Given the description of an element on the screen output the (x, y) to click on. 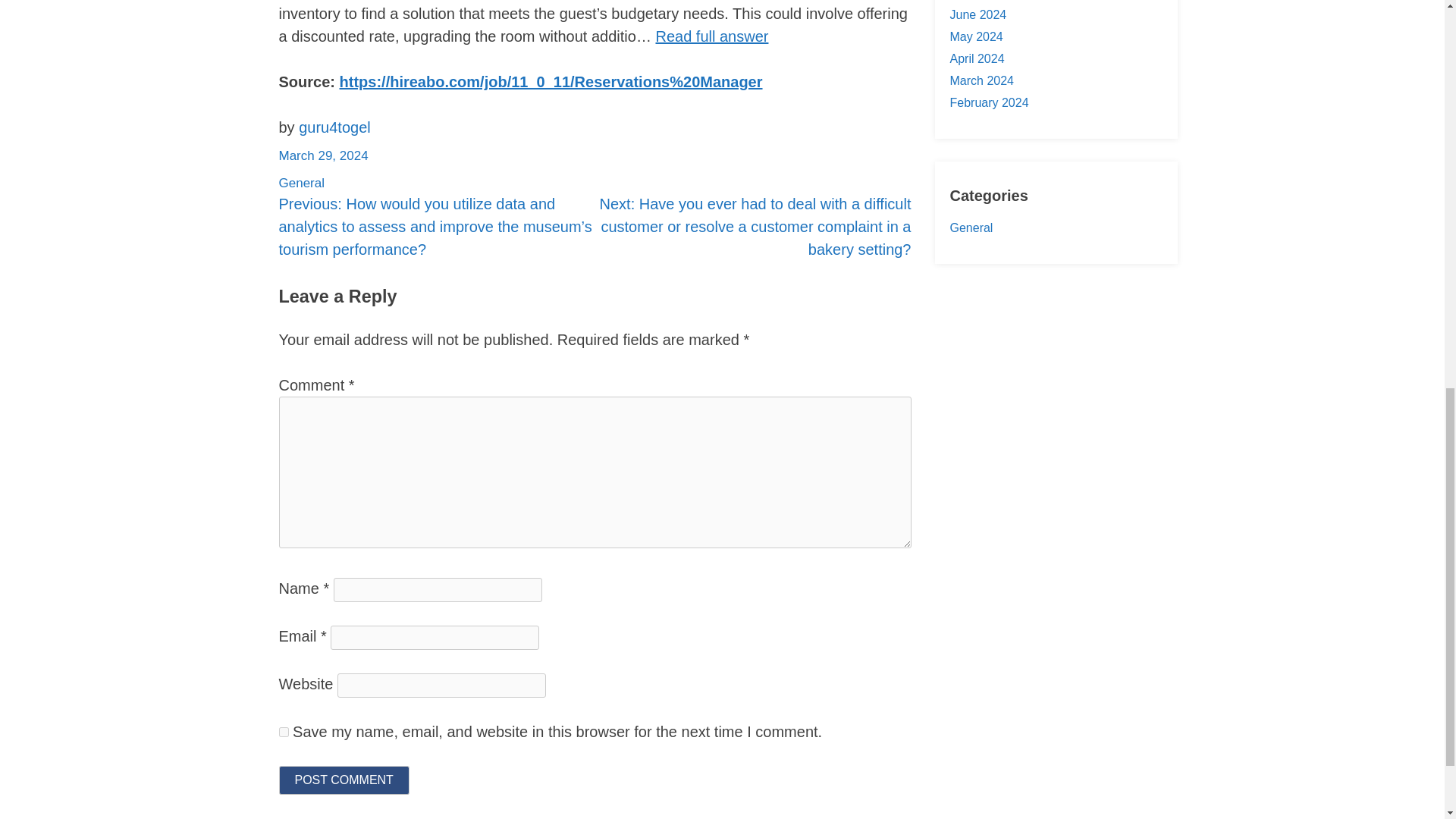
May 2024 (976, 36)
June 2024 (977, 14)
March 2024 (981, 80)
General (970, 227)
Post Comment (344, 779)
General (301, 183)
yes (283, 731)
April 2024 (976, 58)
Post Comment (344, 779)
February 2024 (988, 102)
March 29, 2024 (323, 155)
Read full answer (711, 36)
guru4togel (334, 126)
